Given the description of an element on the screen output the (x, y) to click on. 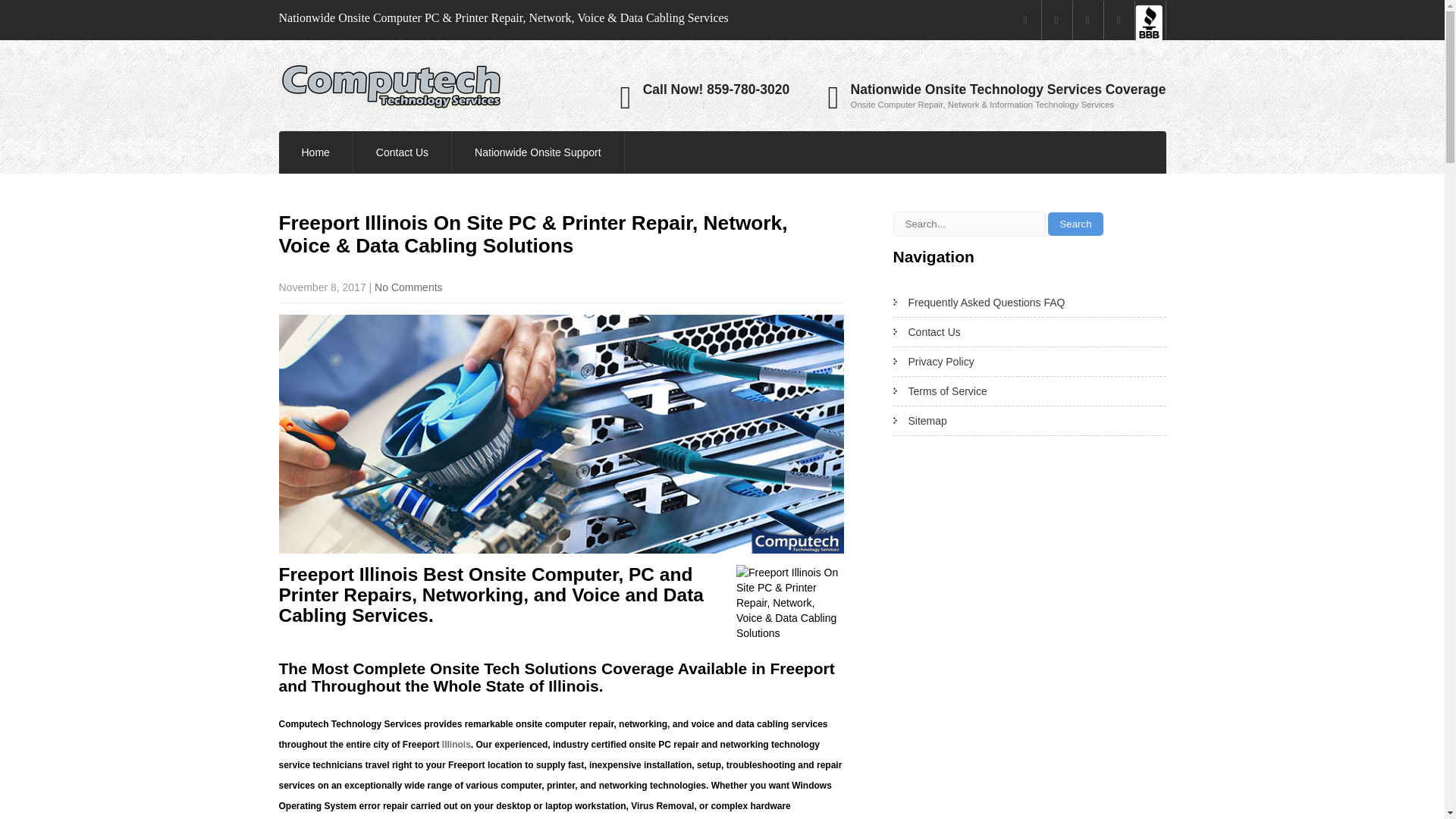
No Comments (408, 287)
Search (1075, 223)
twitter (1057, 19)
Nationwide Onsite Support (537, 152)
Home (315, 152)
Illinois (456, 744)
facebook (1025, 19)
youtube (1087, 19)
Contact Us (402, 152)
yelp (1119, 19)
Search (1075, 223)
